Given the description of an element on the screen output the (x, y) to click on. 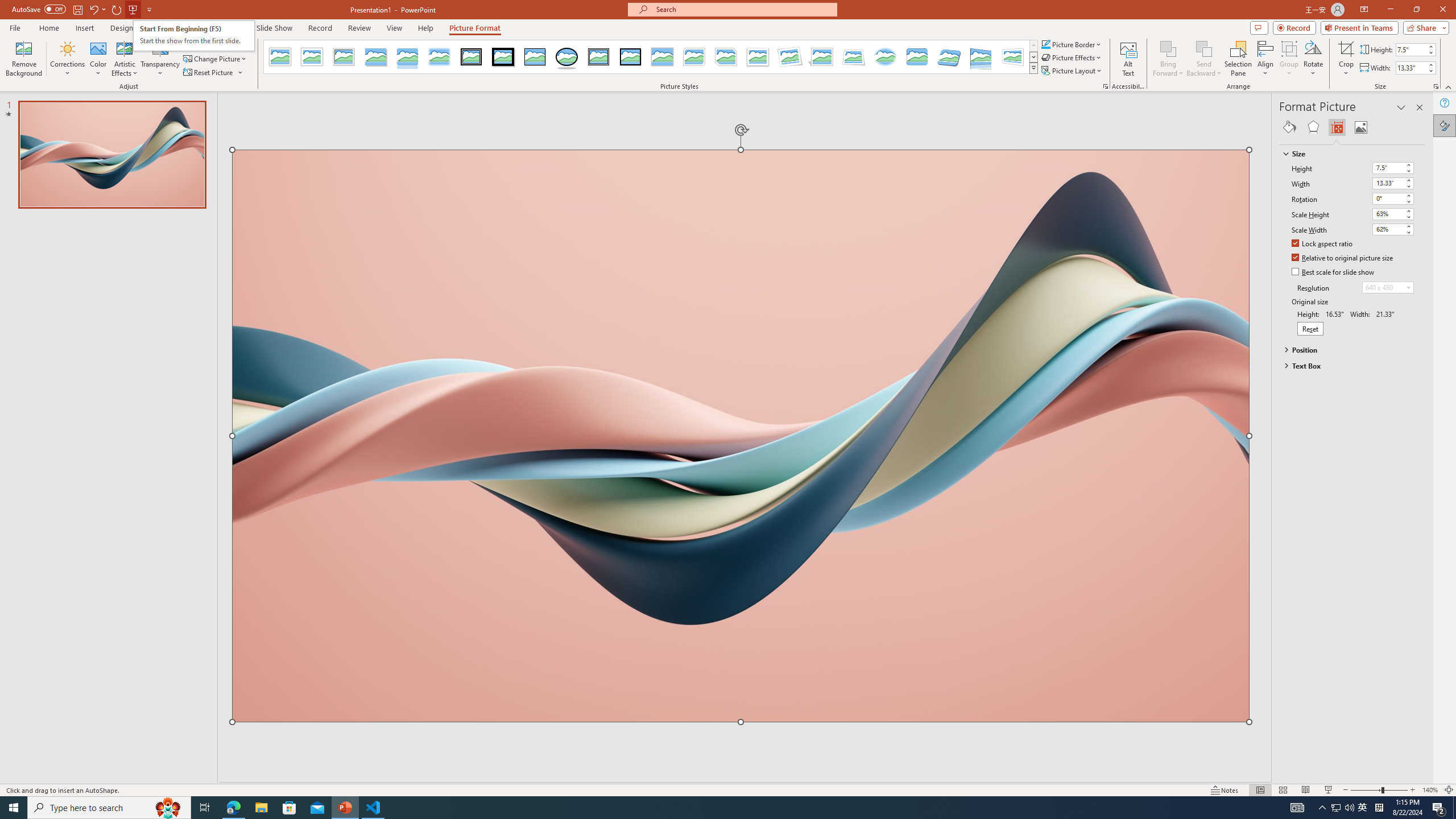
Zoom In (1412, 790)
Simple Frame, Black (535, 56)
Reflected Perspective Right (981, 56)
Soft Edge Rectangle (439, 56)
Design (122, 28)
Beveled Oval, Black (566, 56)
Lock aspect ratio (1322, 244)
Task Pane Options (1400, 107)
Class: MsoCommandBar (728, 789)
Picture Border (1071, 44)
Picture Layout (1072, 69)
Rotated, White (790, 56)
Soft Edge Oval (885, 56)
